Given the description of an element on the screen output the (x, y) to click on. 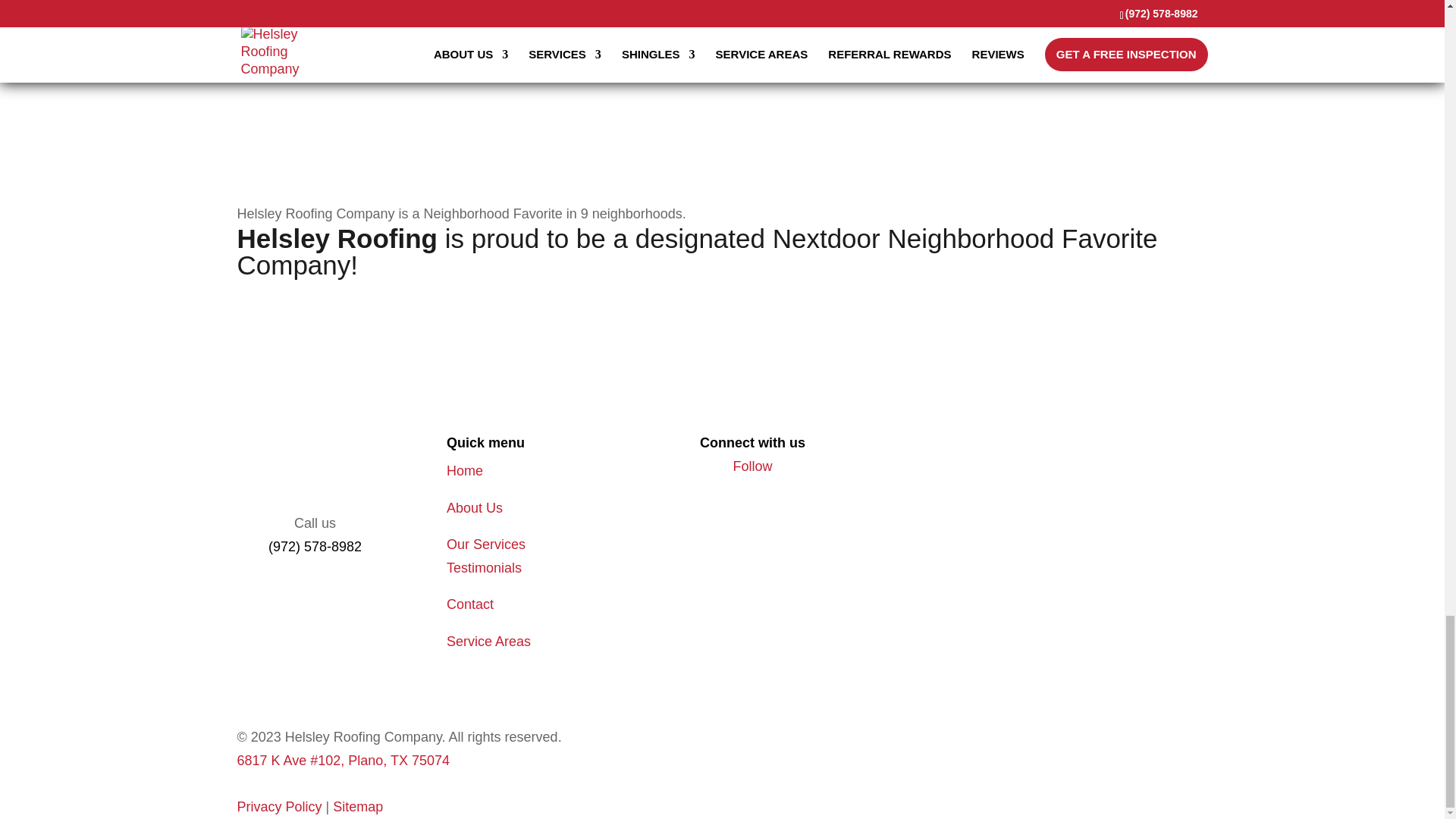
Follow on Facebook (753, 466)
New-Logo (314, 471)
nextdoor-2021-neighborhood-favorite (332, 105)
